Given the description of an element on the screen output the (x, y) to click on. 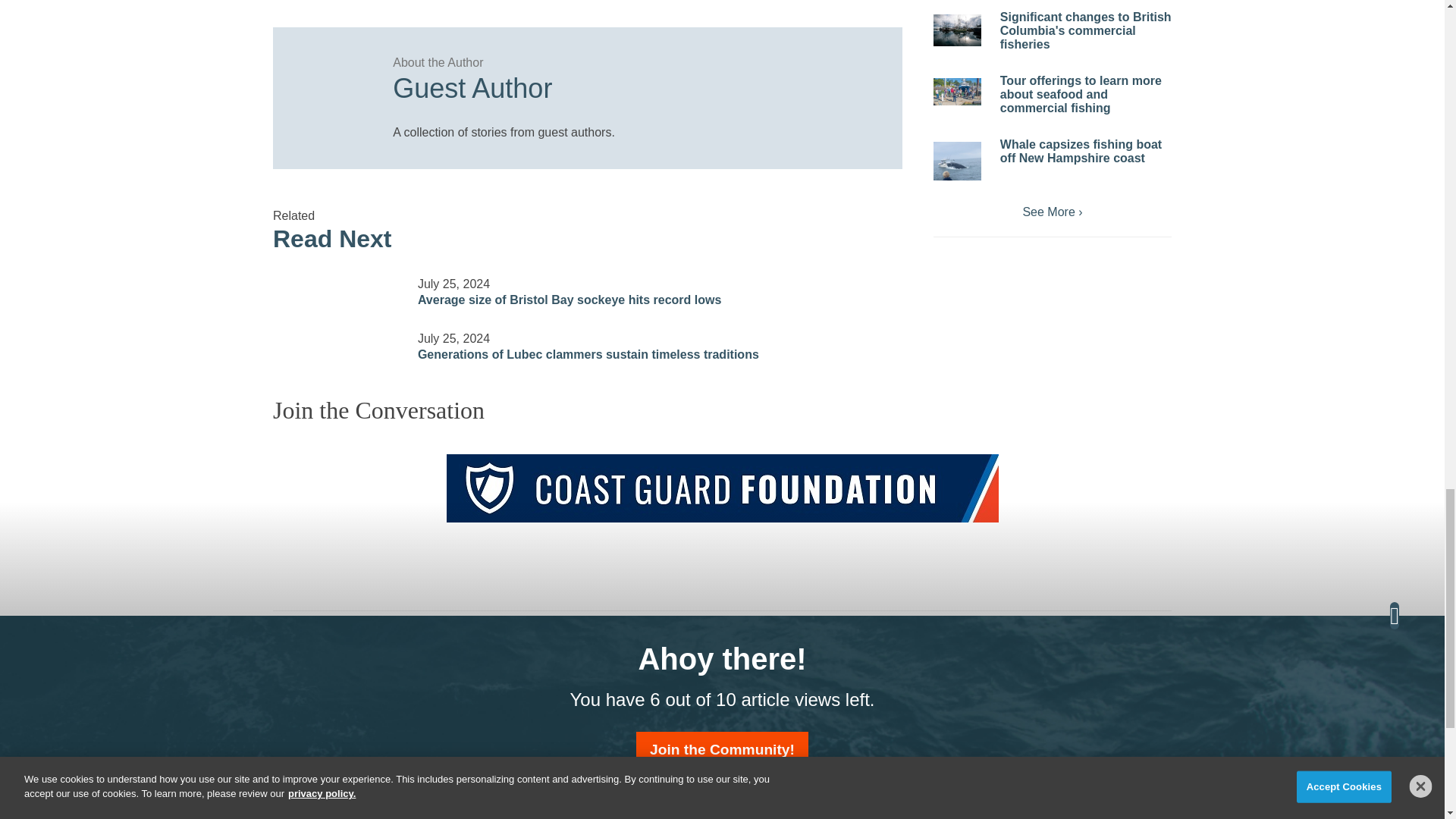
Guest Author (325, 80)
Average size of Bristol Bay sockeye hits record lows (335, 282)
Guest Author (631, 84)
Generations of Lubec clammers sustain timeless traditions (335, 337)
